Given the description of an element on the screen output the (x, y) to click on. 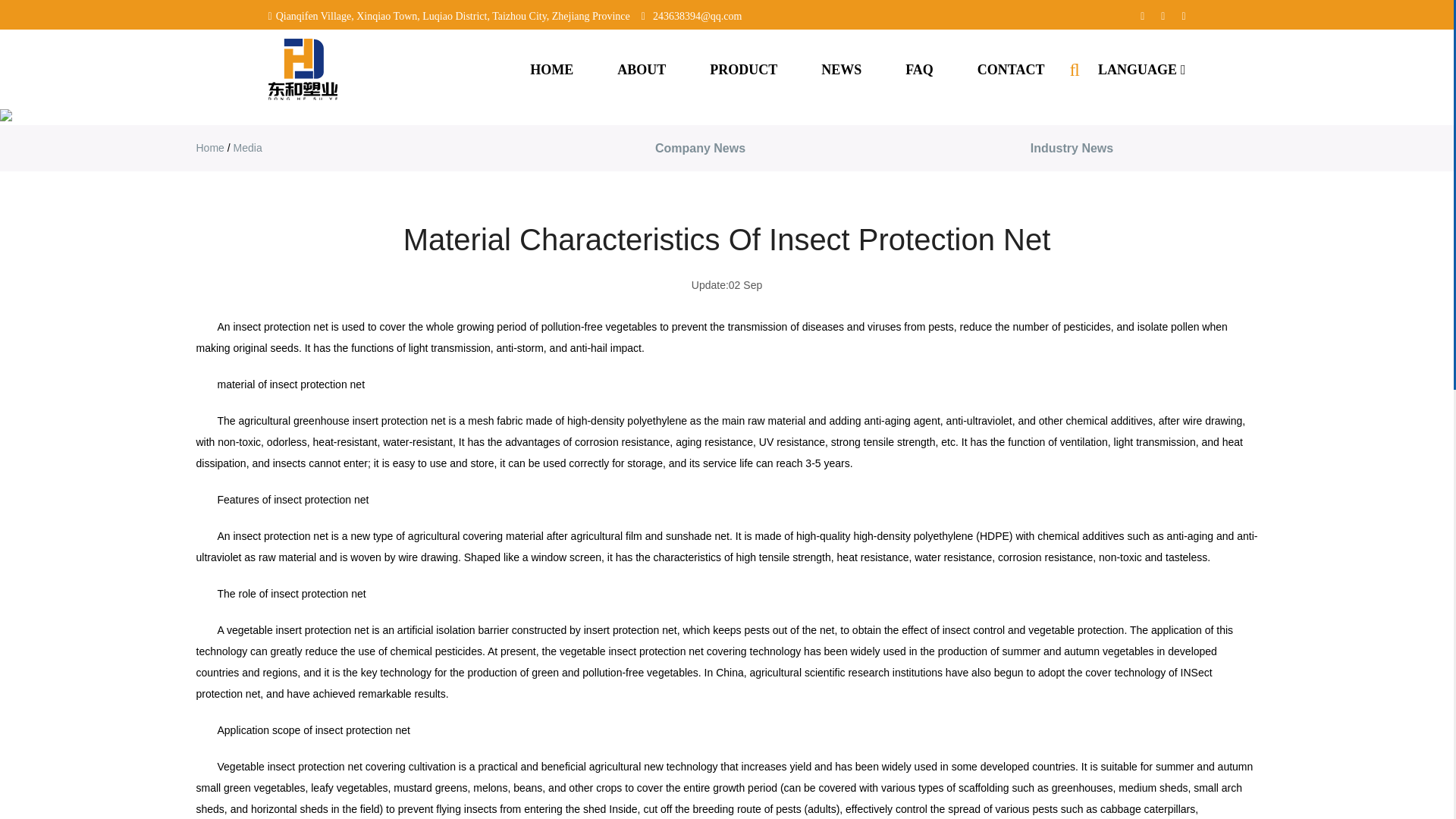
sunshade net (697, 535)
CONTACT (1010, 69)
PRODUCT (743, 69)
FAQ (919, 69)
Company News (699, 148)
Home (209, 147)
Taizhou Donghe Plastic Industry Co., Ltd. (302, 68)
ABOUT (641, 69)
NEWS (841, 69)
Industry News (1071, 148)
